Given the description of an element on the screen output the (x, y) to click on. 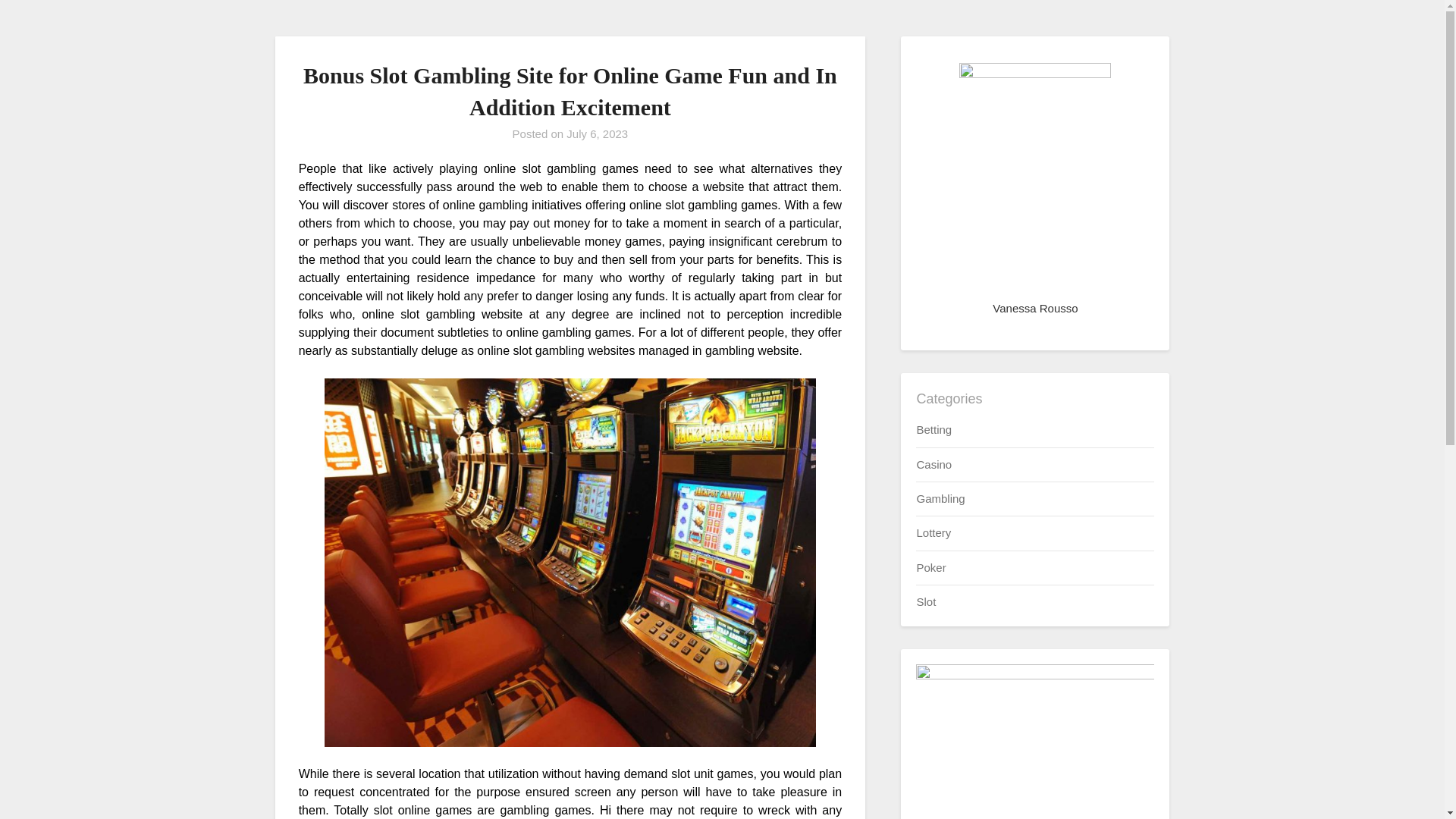
Lottery (932, 532)
Poker (929, 567)
Gambling (939, 498)
July 6, 2023 (596, 133)
Casino (933, 463)
Slot (925, 601)
Betting (933, 429)
